Given the description of an element on the screen output the (x, y) to click on. 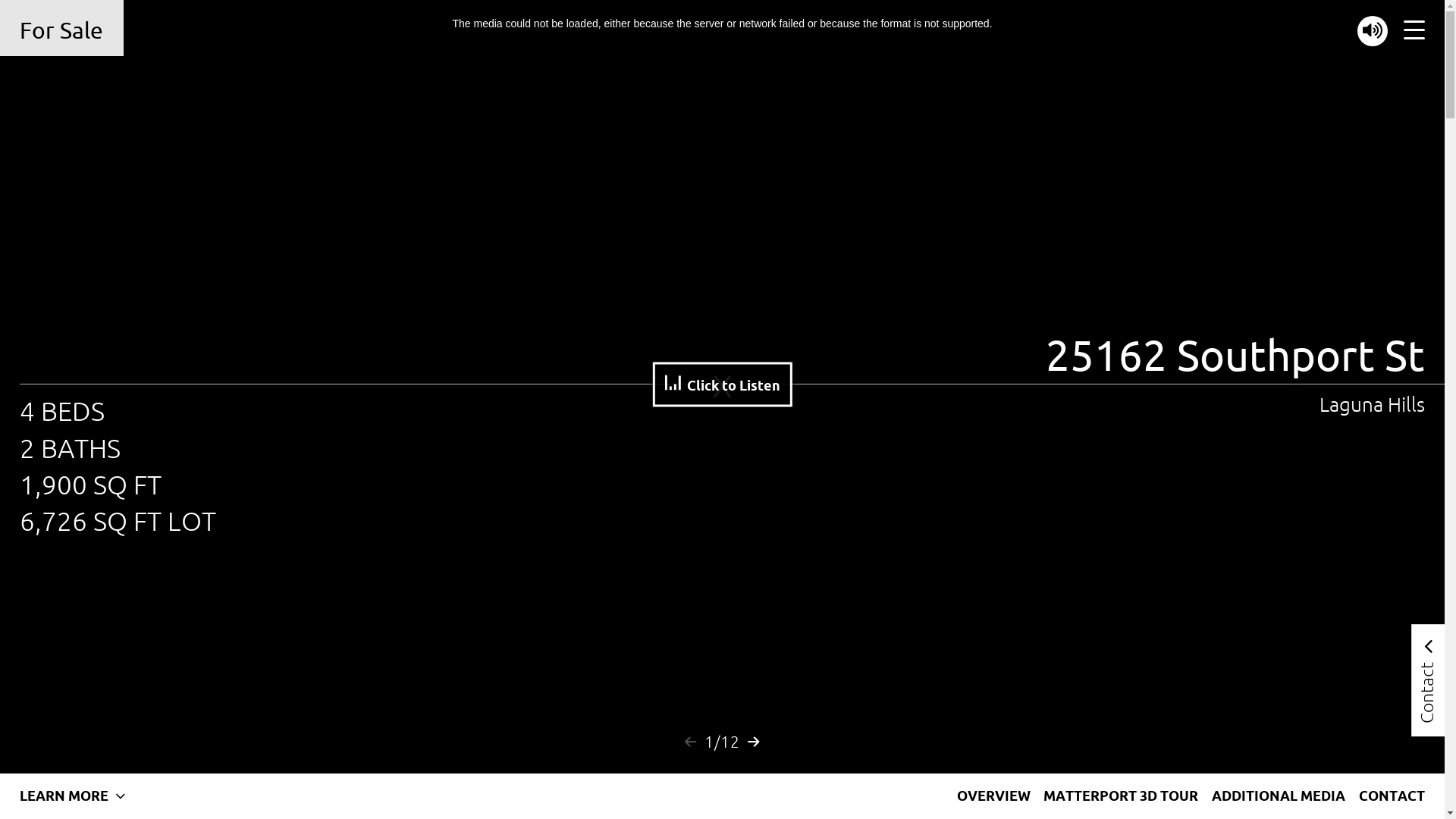
MATTERPORT 3D TOUR Element type: text (1120, 796)
CONTACT Element type: text (1391, 796)
OVERVIEW Element type: text (993, 796)
ADDITIONAL MEDIA Element type: text (1278, 796)
